Given the description of an element on the screen output the (x, y) to click on. 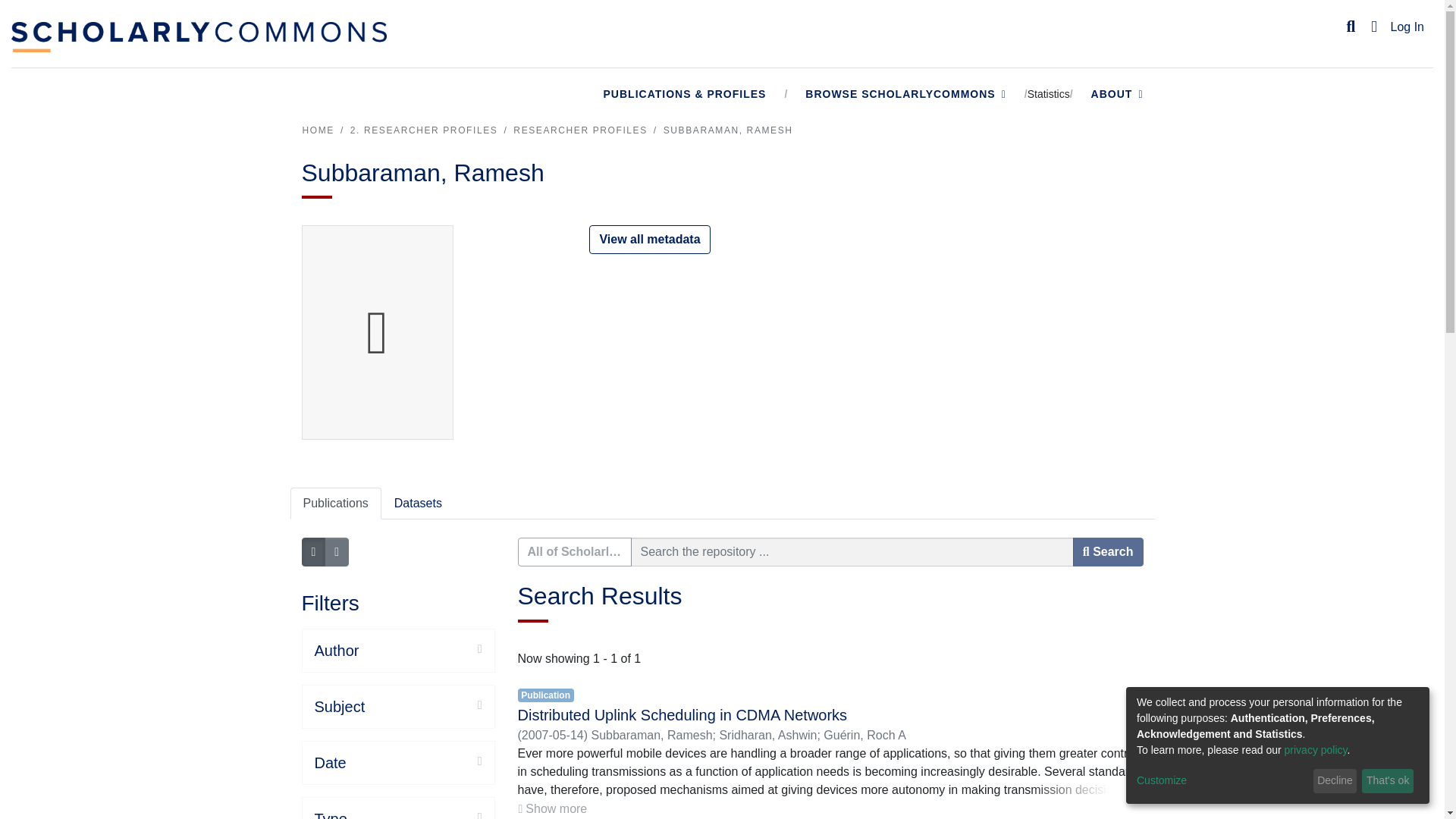
RESEARCHER PROFILES (579, 130)
Subject (397, 706)
Log In (1406, 26)
Search (1350, 27)
View all metadata (649, 239)
Expand filter (423, 705)
HOME (317, 130)
Author (397, 650)
Expand filter (414, 813)
Publications (334, 503)
Date (397, 762)
Expand filter (413, 761)
ABOUT (1117, 94)
BROWSE SCHOLARLYCOMMONS (906, 94)
Type (397, 814)
